Given the description of an element on the screen output the (x, y) to click on. 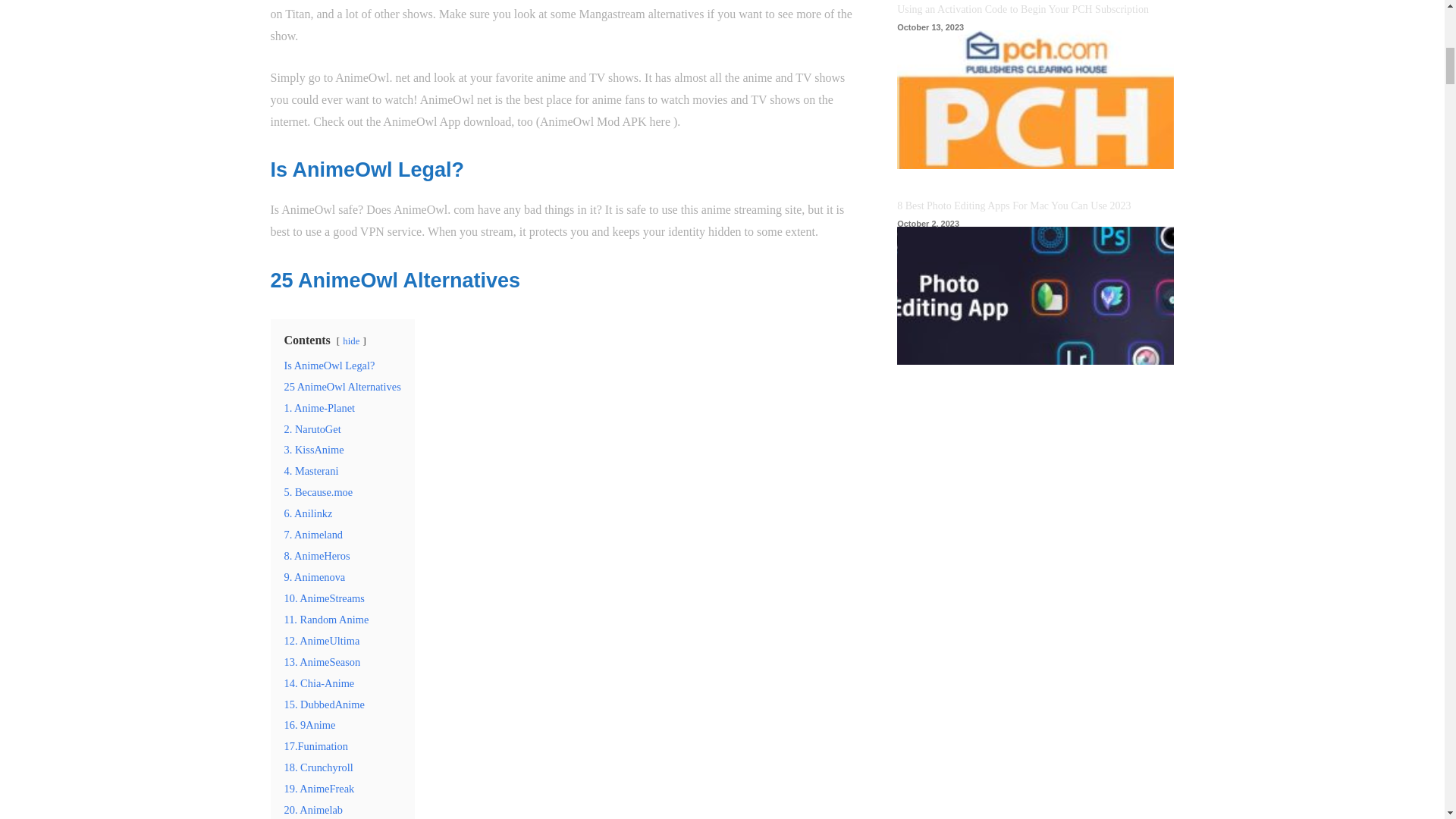
5. Because.moe (317, 491)
8 Best Photo Editing Apps For Mac You Can Use 2023 (1034, 295)
hide (350, 340)
16. 9Anime (308, 725)
11. Random Anime (325, 619)
3. KissAnime (313, 449)
4. Masterani (310, 470)
1. Anime-Planet (319, 408)
17.Funimation (315, 746)
6. Anilinkz (307, 512)
10. AnimeStreams (323, 598)
14. Chia-Anime (318, 683)
Using an Activation Code to Begin Your PCH Subscription (1034, 99)
7. Animeland (312, 534)
15. DubbedAnime (323, 704)
